Given the description of an element on the screen output the (x, y) to click on. 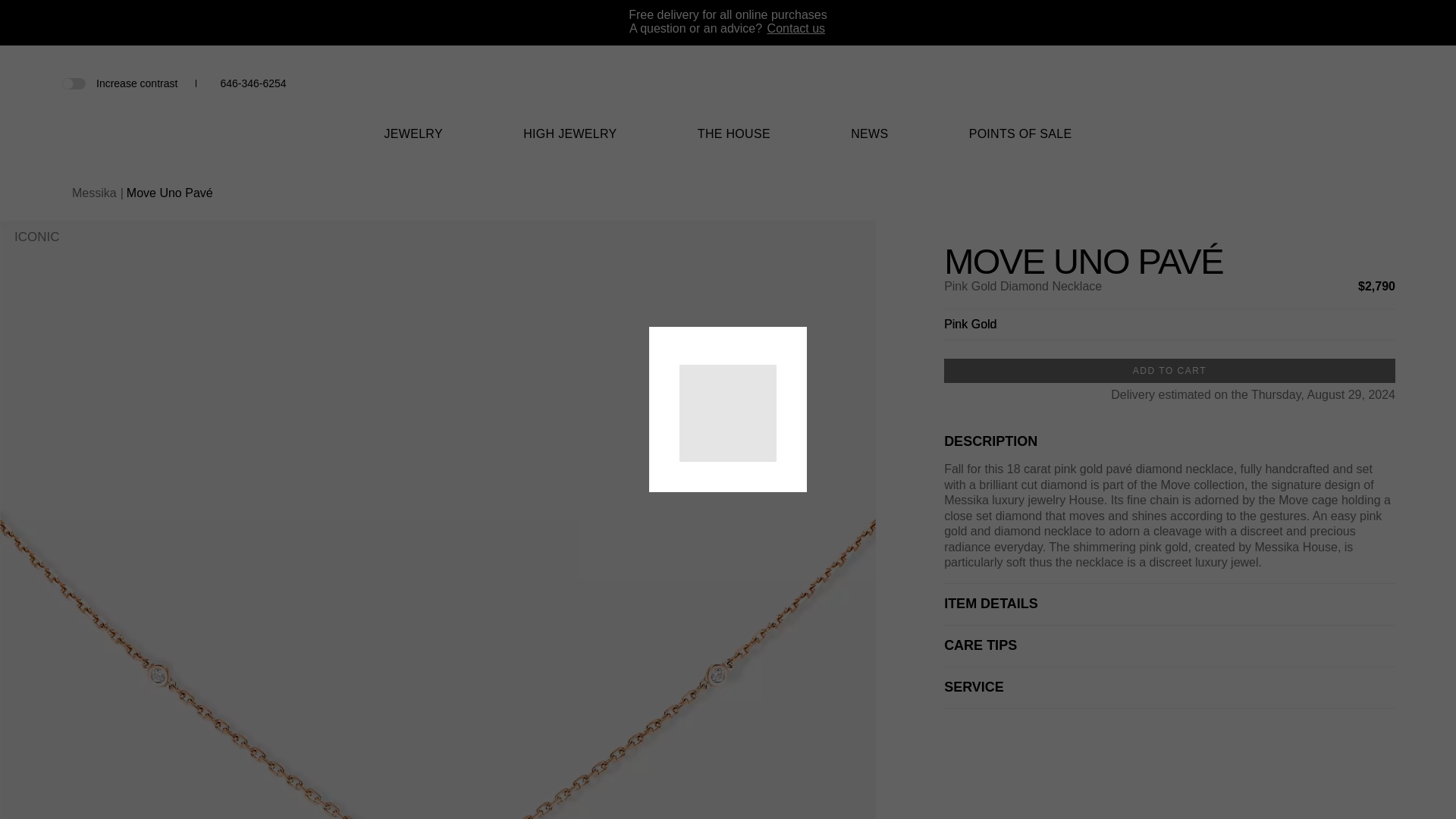
JEWELRY (413, 142)
on (73, 82)
Messika (727, 103)
646-346-6254 (252, 82)
Shopping Cart (1360, 84)
Wishlist (1335, 84)
Wishlist (1335, 83)
Contact us (796, 28)
Search (1310, 84)
Messika (727, 92)
